Given the description of an element on the screen output the (x, y) to click on. 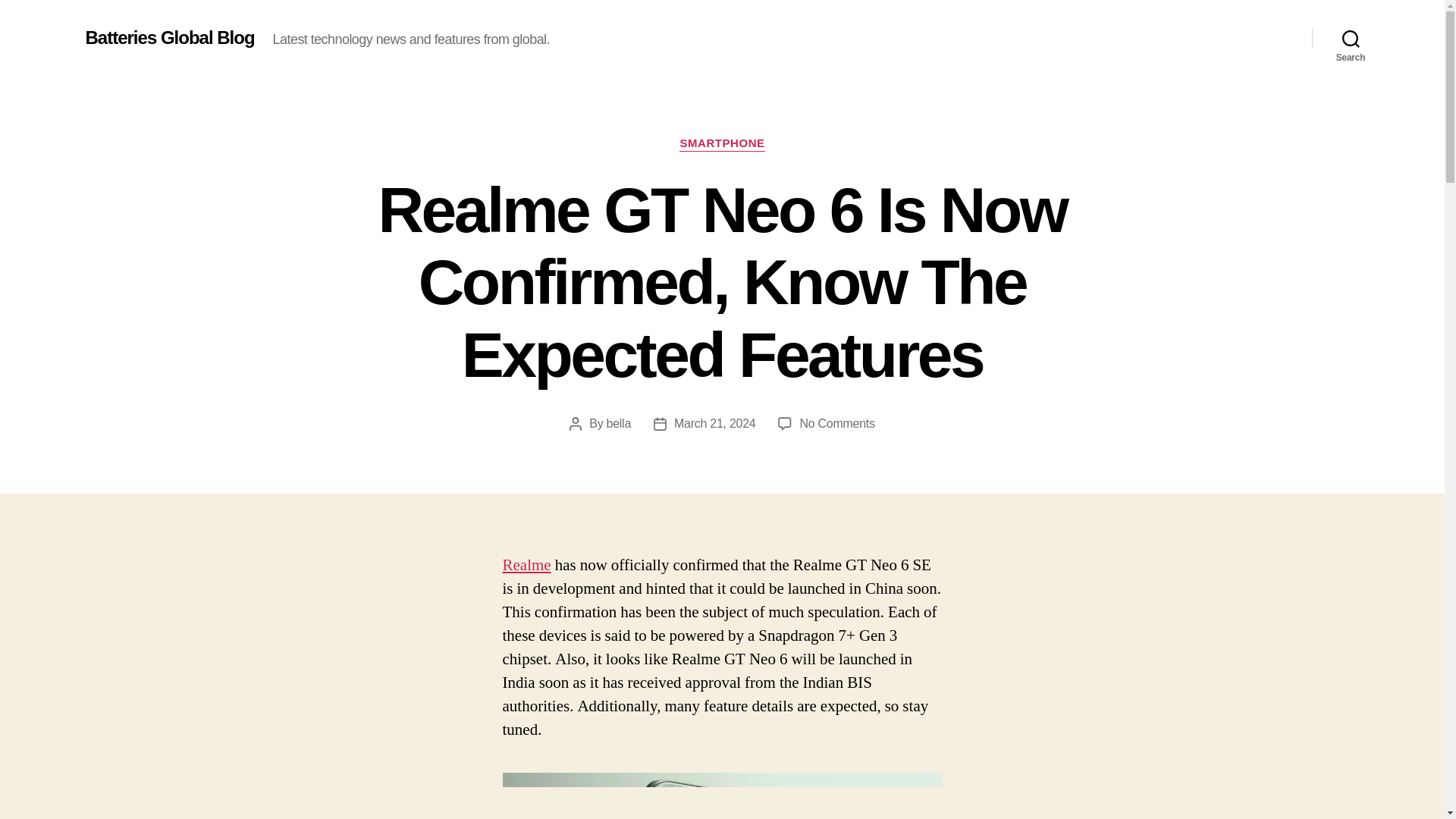
Batteries Global Blog (168, 37)
SMARTPHONE (721, 143)
Realme (526, 565)
bella (618, 422)
March 21, 2024 (714, 422)
Search (1350, 37)
